Given the description of an element on the screen output the (x, y) to click on. 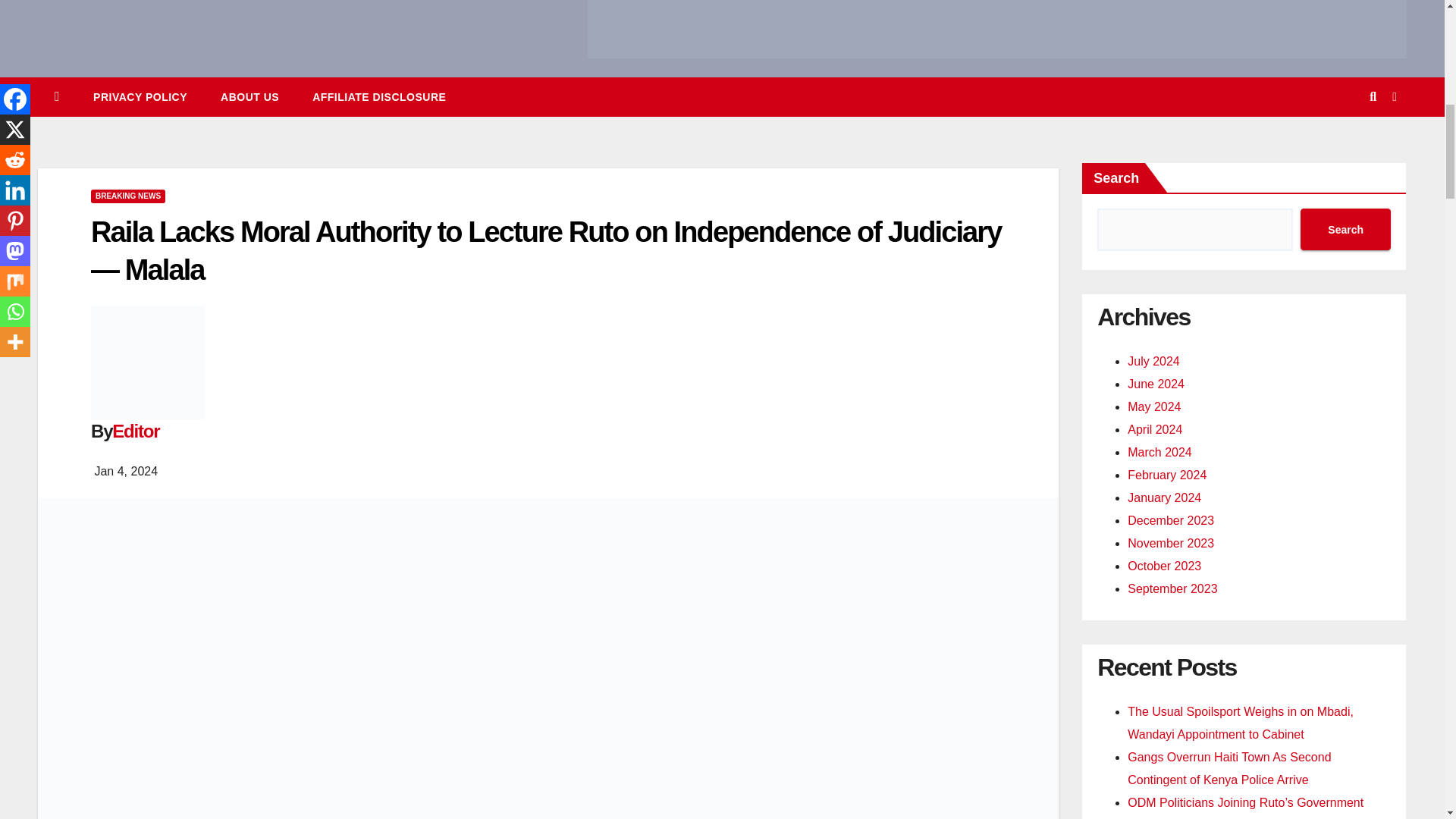
AFFILIATE DISCLOSURE (379, 96)
ABOUT US (249, 96)
Editor (135, 430)
ABOUT US (249, 96)
PRIVACY POLICY (140, 96)
Affiliate Disclosure (379, 96)
PRIVACY POLICY (140, 96)
BREAKING NEWS (127, 196)
